Given the description of an element on the screen output the (x, y) to click on. 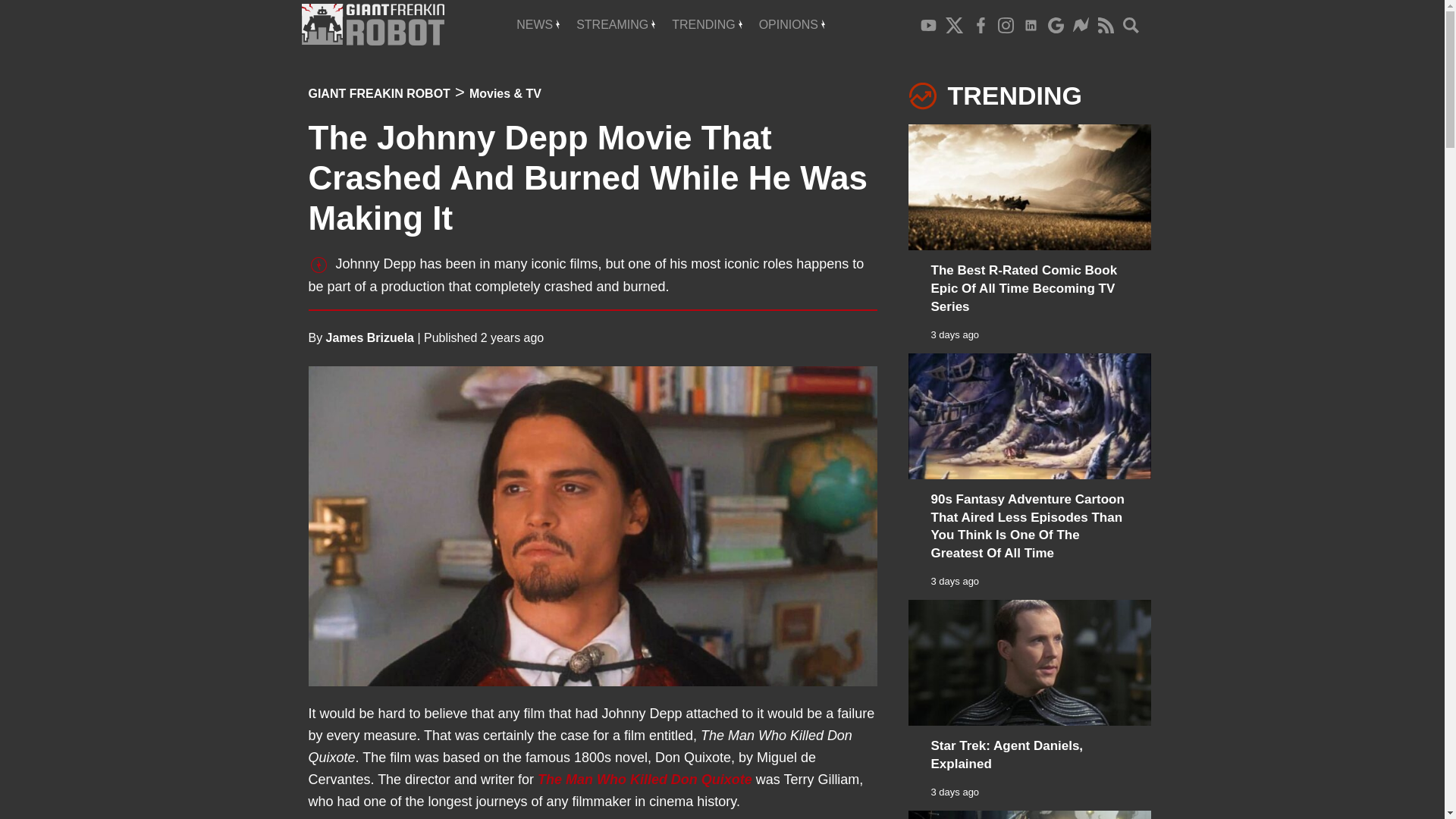
James Brizuela (369, 337)
Streaming (615, 24)
TRENDING (706, 24)
NEWS (537, 24)
STREAMING (615, 24)
Entertainment News (537, 24)
GIANT FREAKIN ROBOT (378, 92)
OPINIONS (791, 24)
Trending (706, 24)
